Given the description of an element on the screen output the (x, y) to click on. 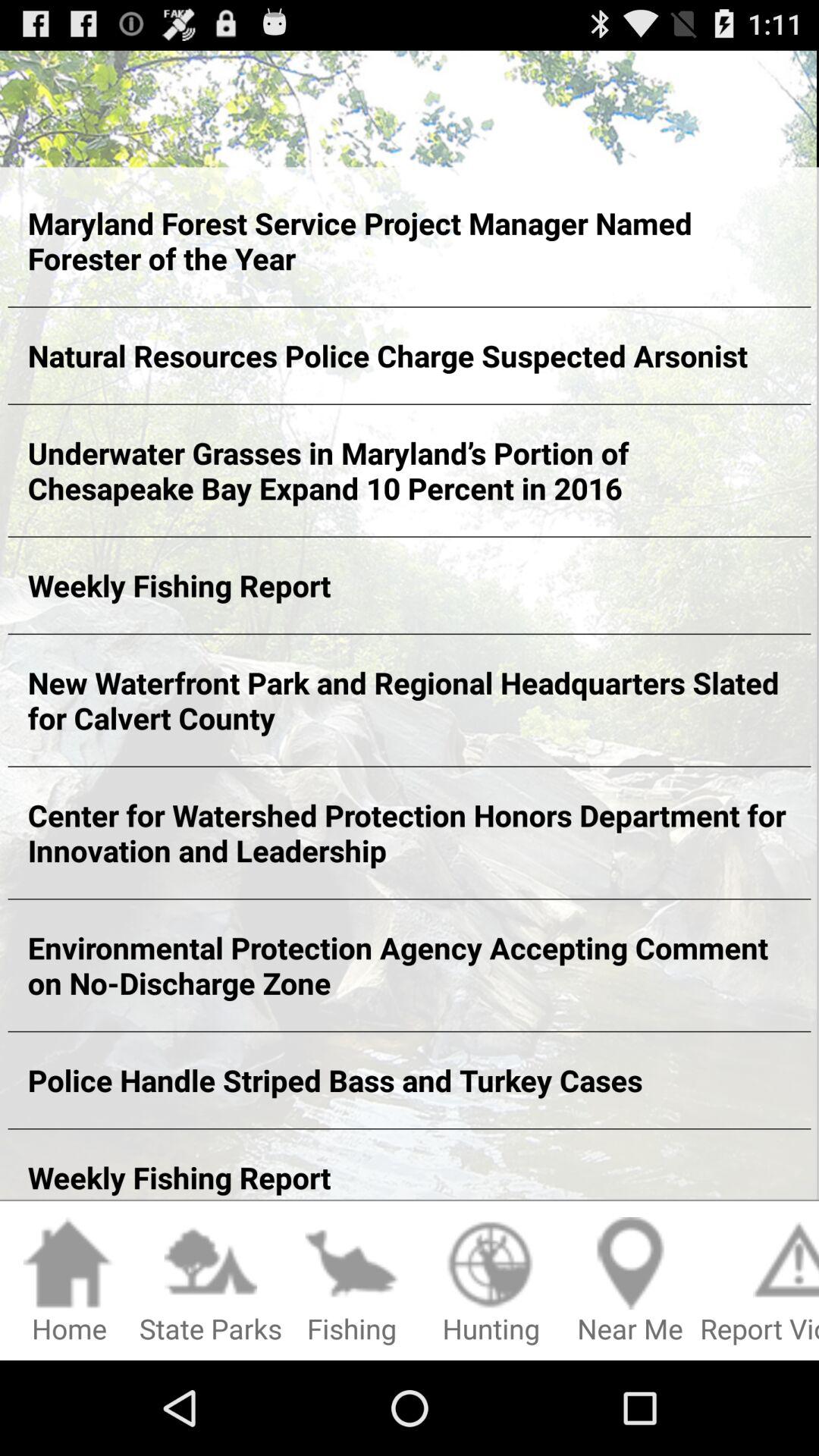
choose the app below the weekly fishing report item (69, 1282)
